Given the description of an element on the screen output the (x, y) to click on. 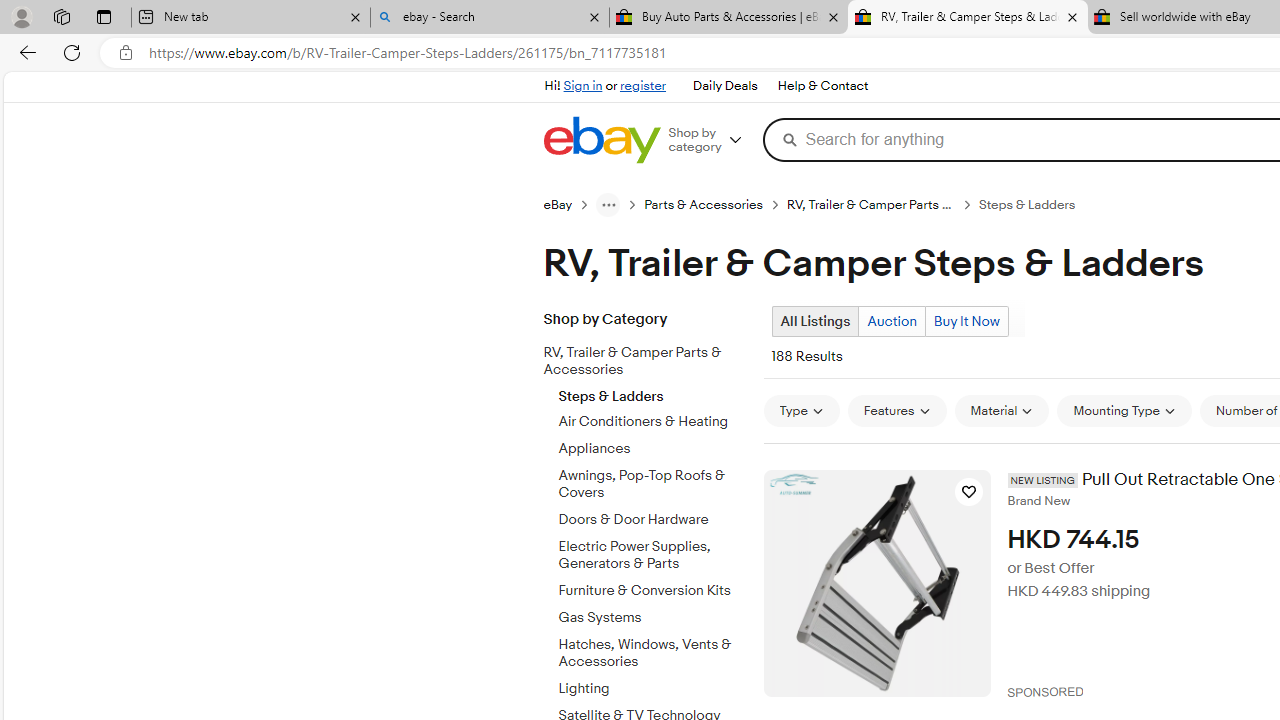
Air Conditioners & Heating (653, 418)
View site information (125, 53)
eBay (569, 204)
Personal Profile (21, 16)
All Listings Current view (814, 321)
Buy It Now (966, 321)
Features (897, 410)
Mounting Type (1124, 410)
Lighting (653, 689)
Buy Auto Parts & Accessories | eBay (729, 17)
ebay - Search (490, 17)
Sign in (582, 85)
Shop by category (711, 140)
Workspaces (61, 16)
